Given the description of an element on the screen output the (x, y) to click on. 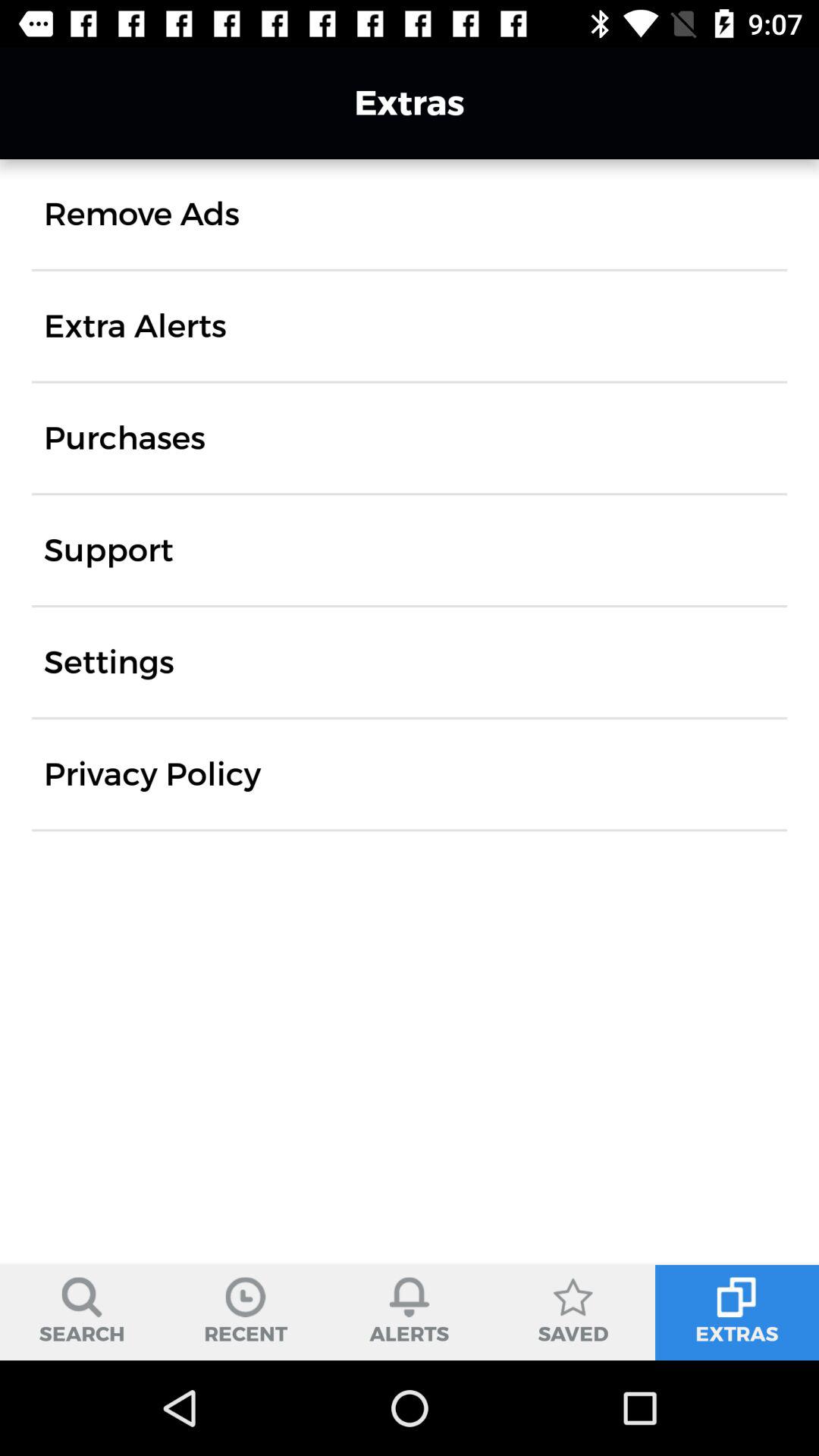
turn off icon below the remove ads (134, 326)
